Given the description of an element on the screen output the (x, y) to click on. 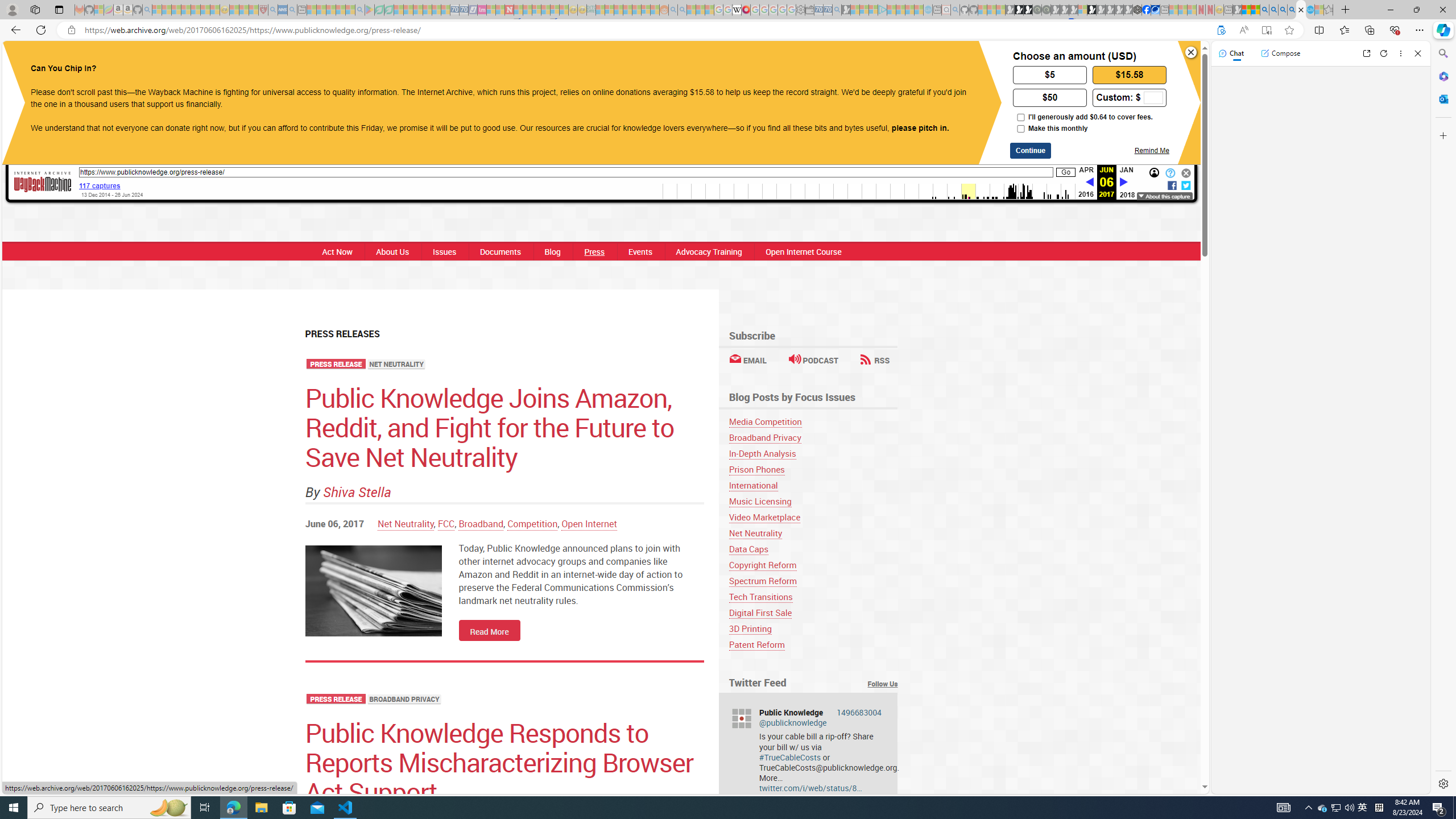
AutomationID: custom-amount-input (1152, 97)
Open the menu (446, 61)
YOUTUBE (737, 60)
About Us (392, 251)
PODCAST (812, 360)
Copyright Reform (762, 564)
3D Printing (749, 628)
Digital First Sale (760, 612)
YOUTUBE (737, 60)
